Given the description of an element on the screen output the (x, y) to click on. 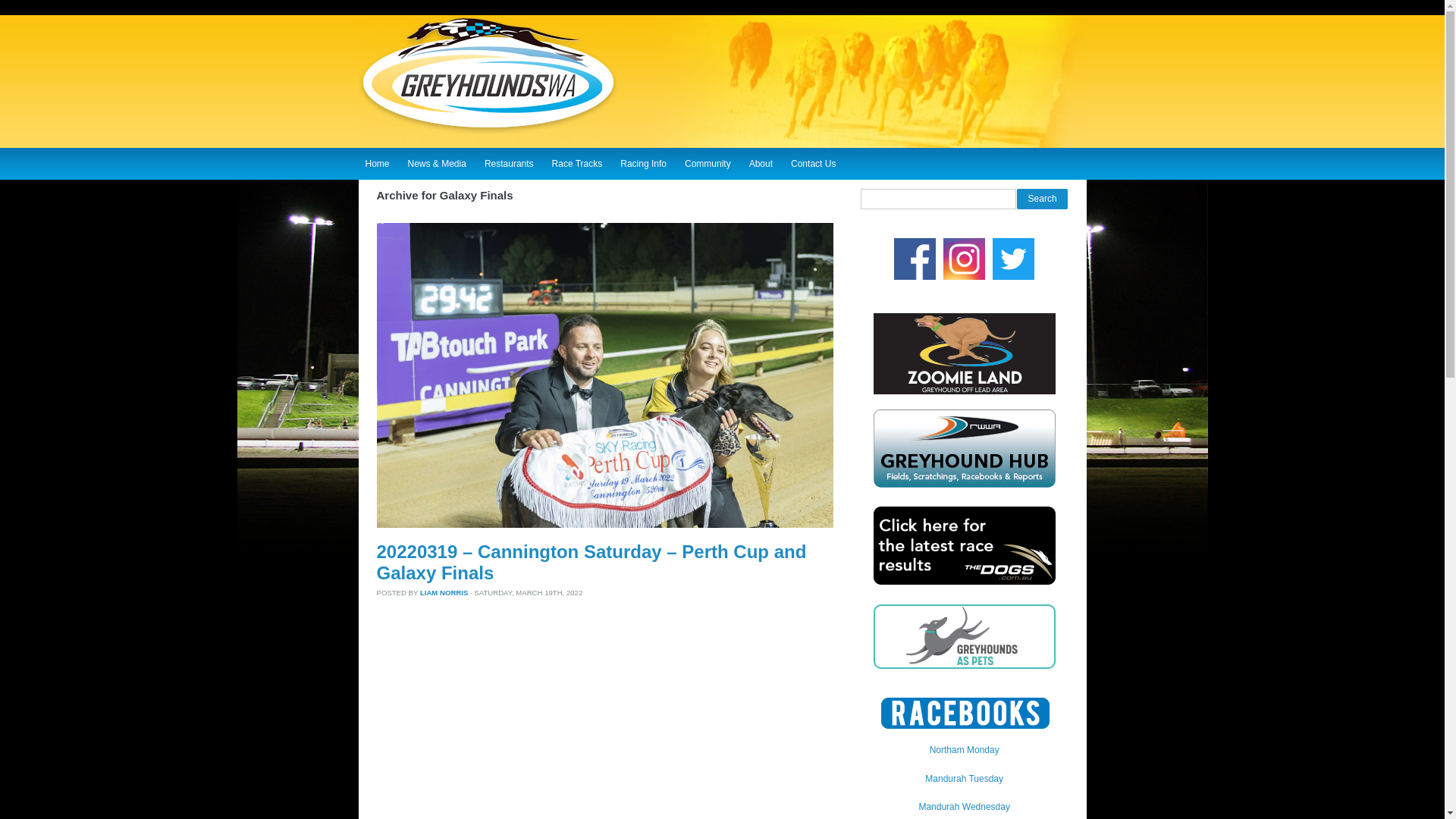
Home (377, 162)
About (760, 162)
Restaurants (508, 162)
Community (708, 162)
Racing Info (642, 162)
Contact Us (813, 162)
Race Tracks (577, 162)
Liam Norris (443, 592)
Search (1042, 198)
Search (1042, 198)
